Given the description of an element on the screen output the (x, y) to click on. 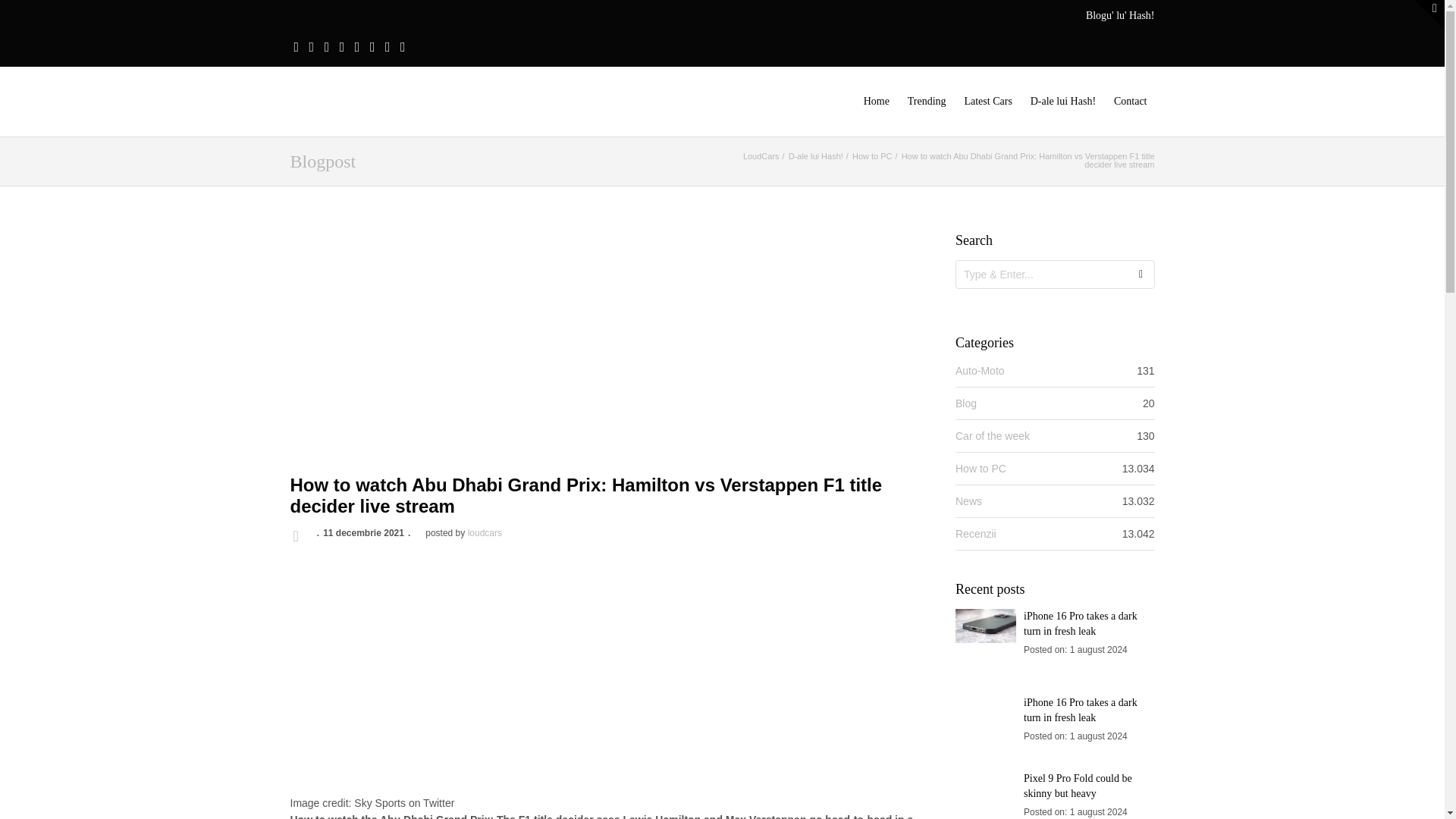
How to PC (871, 155)
Latest Cars (987, 101)
loudcars (484, 532)
LoudCars (760, 155)
Go to LoudCars. (760, 155)
Trending (926, 101)
D-ale lui Hash! (816, 155)
Contact (1130, 101)
D-ale lui Hash! (1063, 101)
Home (876, 101)
